Given the description of an element on the screen output the (x, y) to click on. 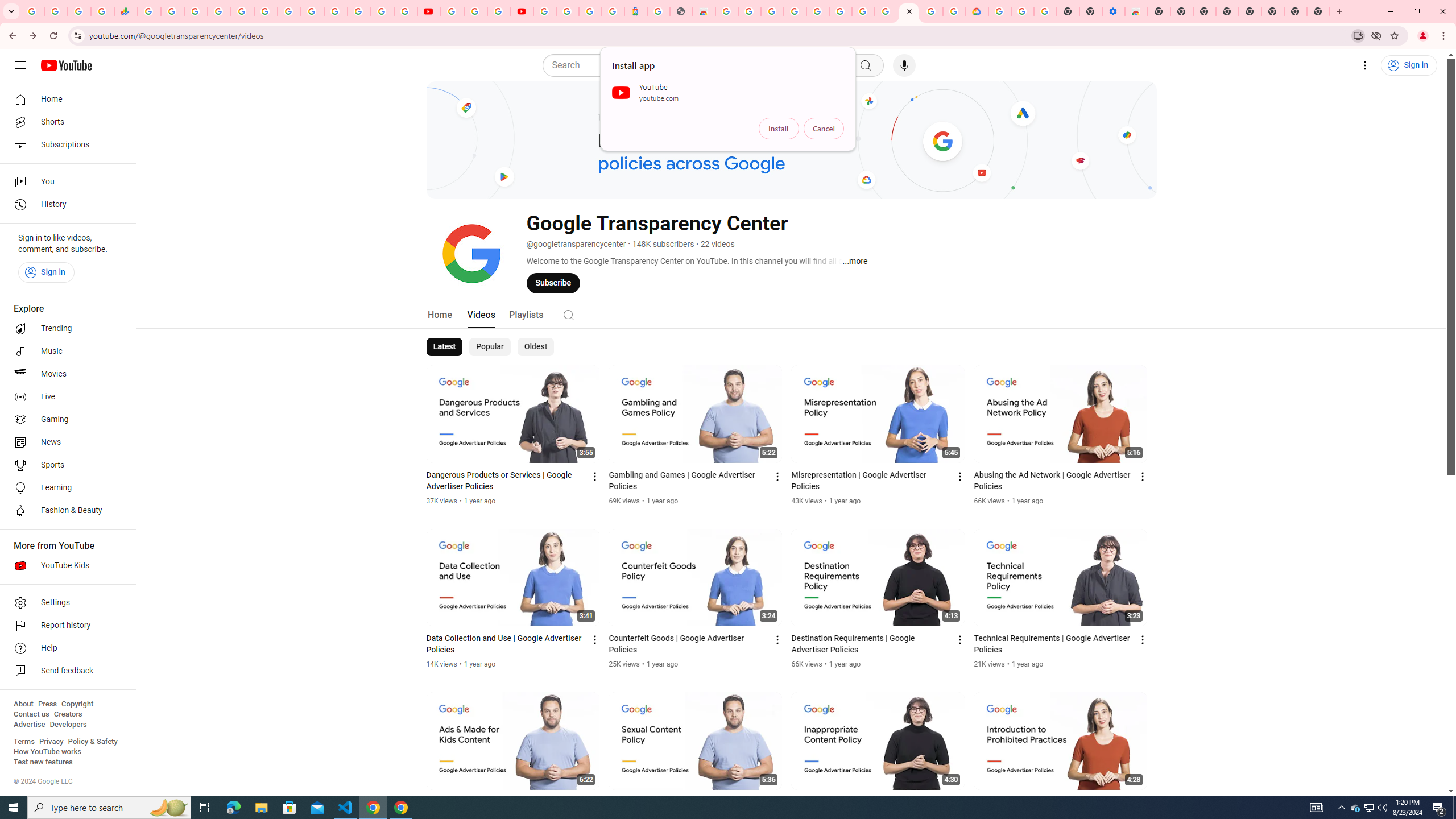
Creators (67, 714)
Sign in - Google Accounts (999, 11)
Trending (64, 328)
Atour Hotel - Google hotels (635, 11)
YouTube (451, 11)
Send feedback (64, 671)
Home (440, 314)
New Tab (1318, 11)
Movies (64, 373)
